Given the description of an element on the screen output the (x, y) to click on. 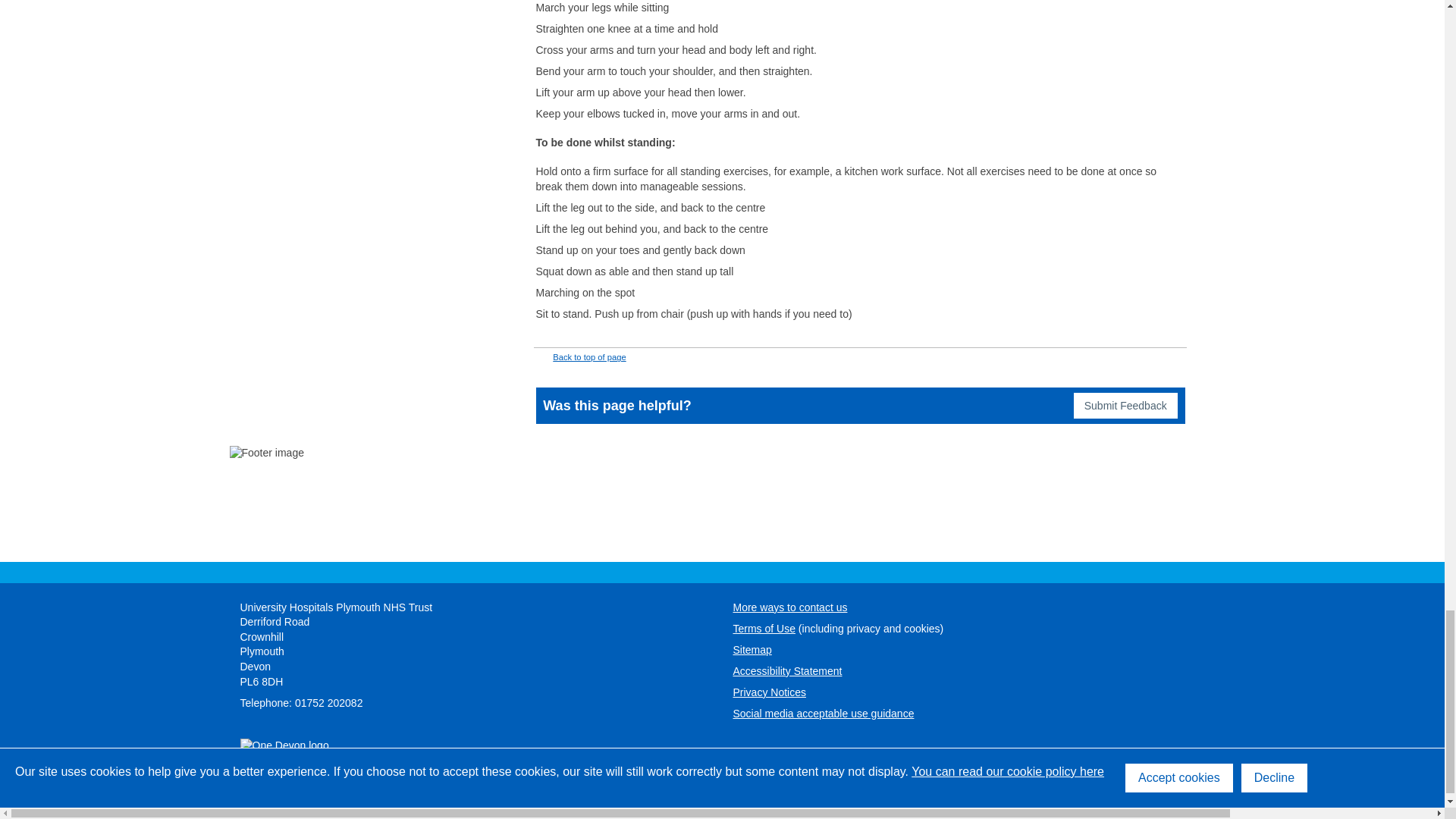
Sitemap (751, 649)
Sitemap (751, 649)
Social media acceptable use guidance (823, 713)
Accessibility Statement (786, 671)
Accessibility Statement (786, 671)
Submit Feedback (1125, 405)
More ways to contact us (789, 607)
Contact Us  (789, 607)
Submit Feedback (1125, 405)
Terms of Use (763, 628)
